Given the description of an element on the screen output the (x, y) to click on. 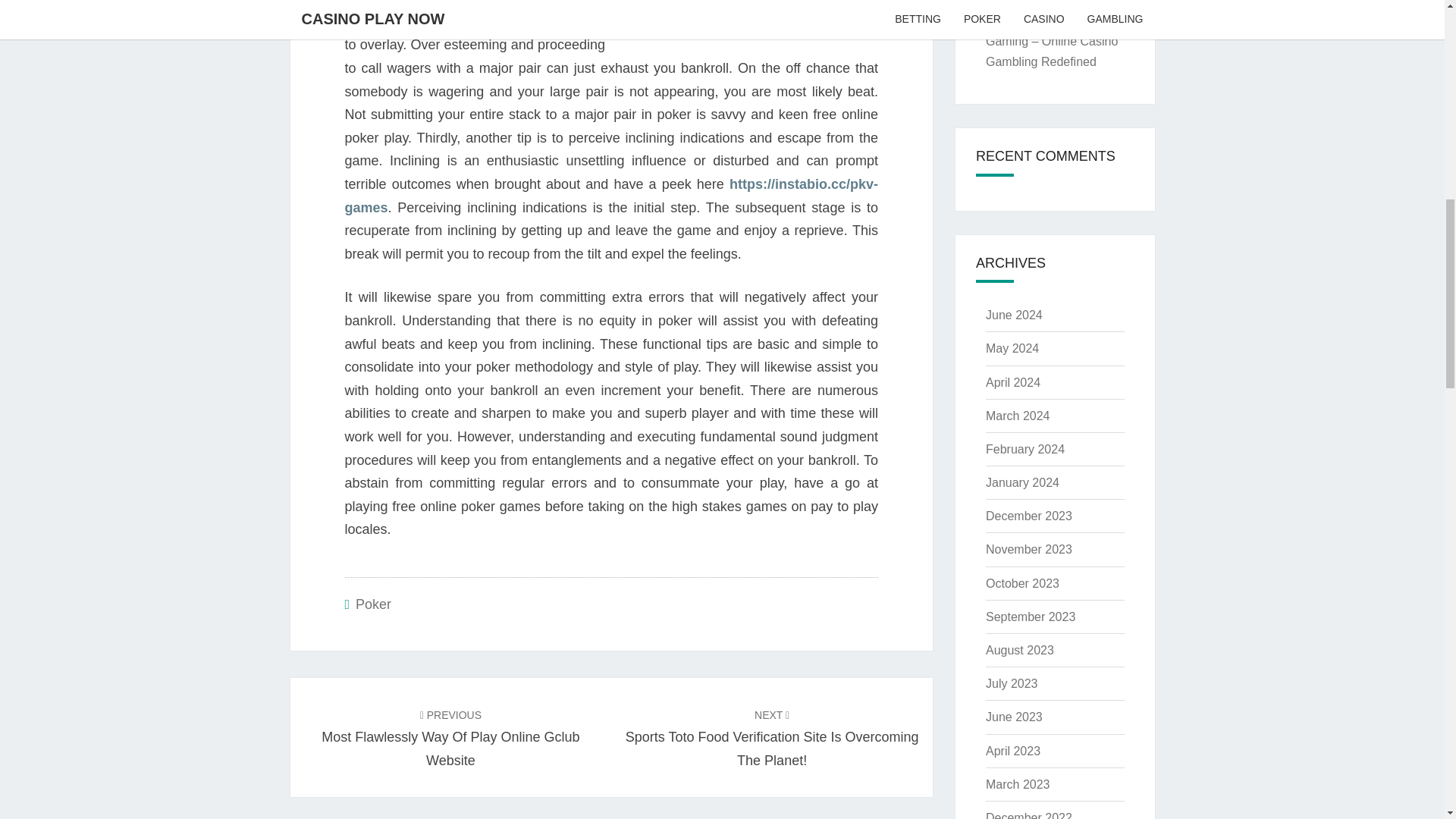
July 2023 (1011, 683)
April 2023 (1013, 750)
June 2024 (1013, 314)
December 2022 (1028, 815)
June 2023 (1013, 716)
December 2023 (1028, 515)
May 2024 (1012, 348)
April 2024 (1013, 382)
August 2023 (1019, 649)
November 2023 (1028, 549)
September 2023 (1030, 616)
March 2023 (1017, 784)
February 2024 (1024, 449)
Poker (373, 604)
October 2023 (1022, 583)
